Given the description of an element on the screen output the (x, y) to click on. 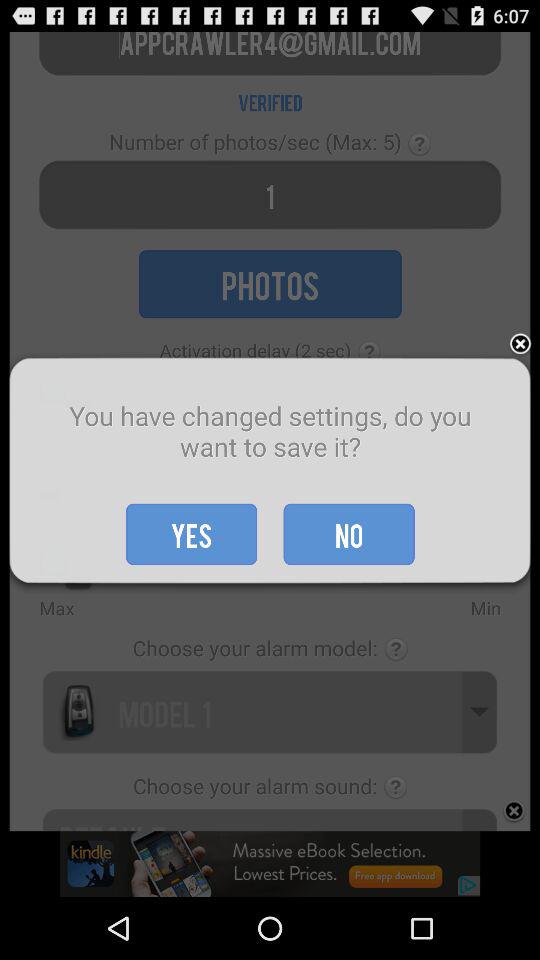
launch the item to the right of yes icon (348, 534)
